Given the description of an element on the screen output the (x, y) to click on. 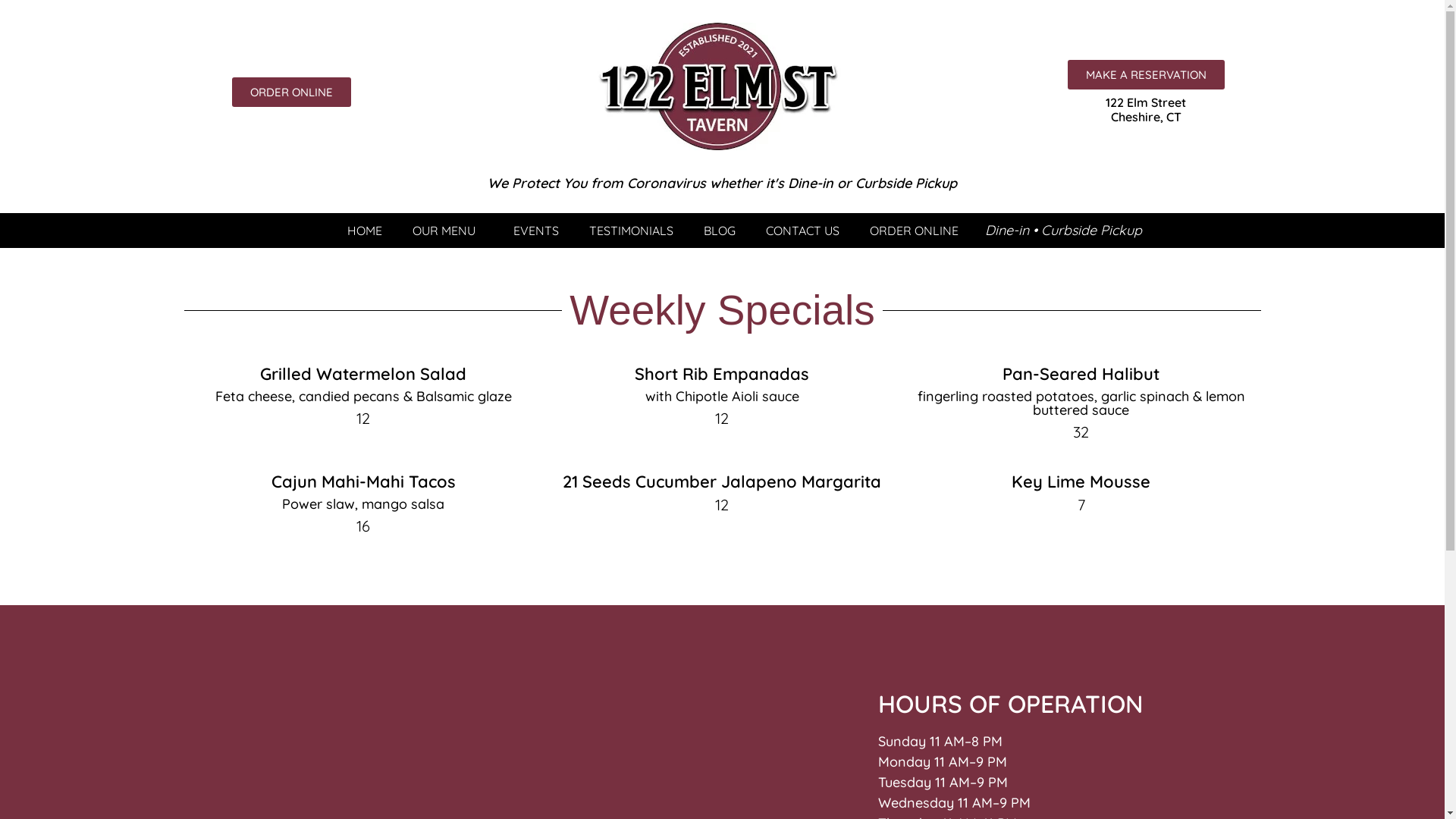
ORDER ONLINE Element type: text (913, 230)
CONTACT US Element type: text (802, 230)
BLOG Element type: text (719, 230)
TESTIMONIALS Element type: text (631, 230)
OUR MENU Element type: text (447, 230)
ORDER ONLINE Element type: text (291, 91)
EVENTS Element type: text (536, 230)
MAKE A RESERVATION Element type: text (1145, 74)
HOME Element type: text (364, 230)
